Given the description of an element on the screen output the (x, y) to click on. 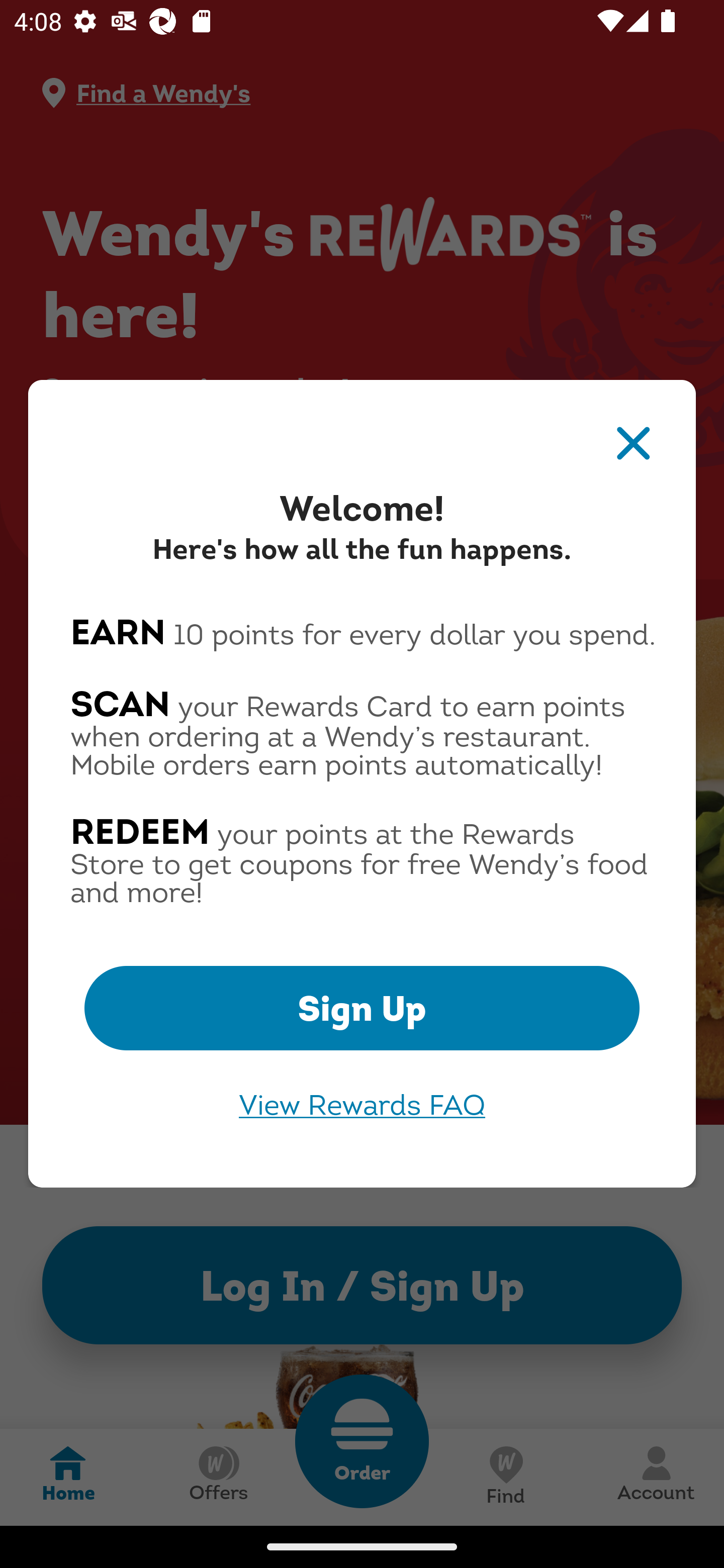
Sign Up (361, 1007)
View Rewards FAQ View Rewards FAQ Link (361, 1104)
